Given the description of an element on the screen output the (x, y) to click on. 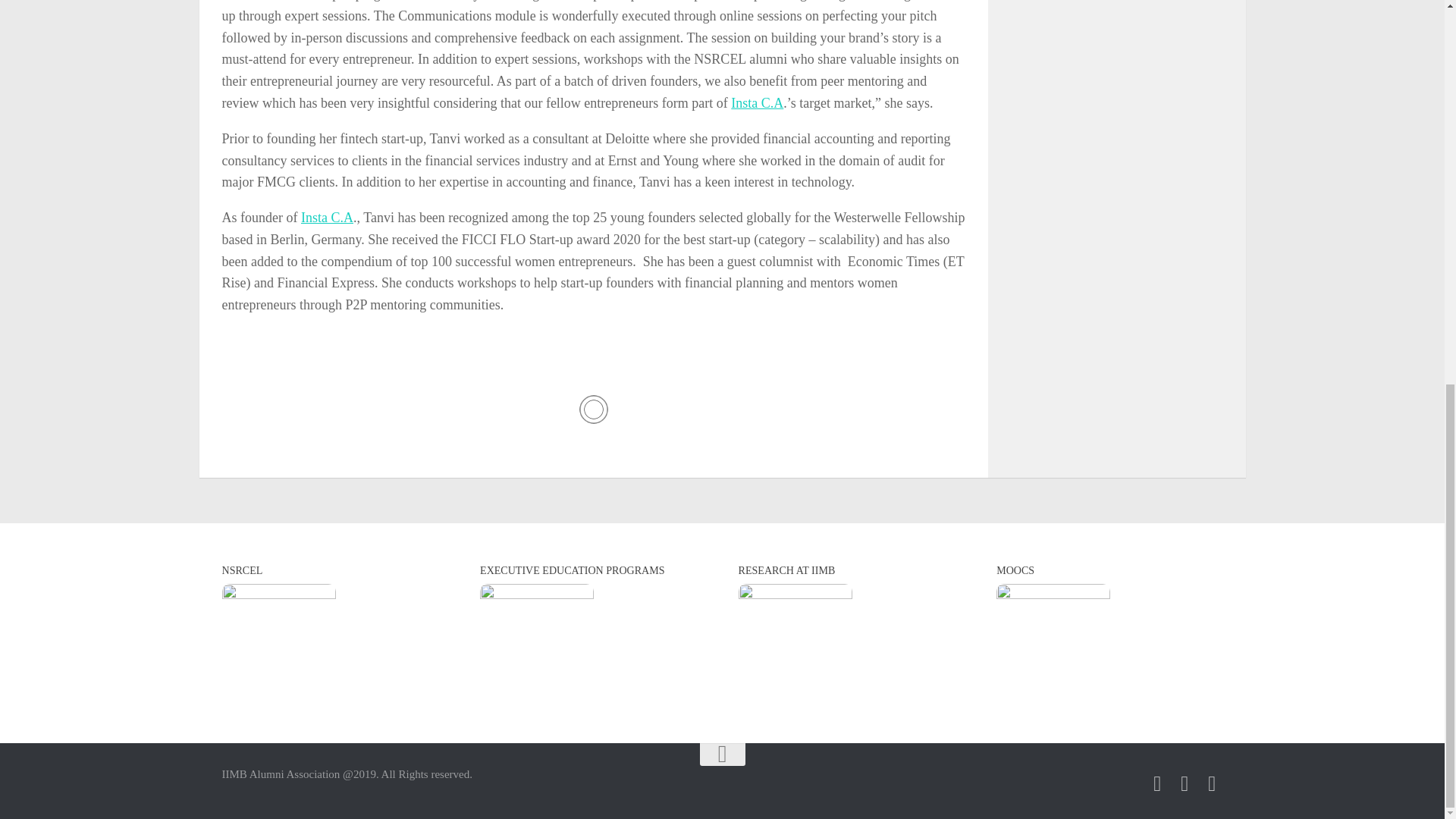
Know More About IIMB (794, 640)
Follow us on Twitter (1212, 783)
Follow us on Linkedin (1184, 783)
Insta C.A (327, 217)
Insta C.A (756, 102)
Follow us on Facebook (1157, 783)
